Given the description of an element on the screen output the (x, y) to click on. 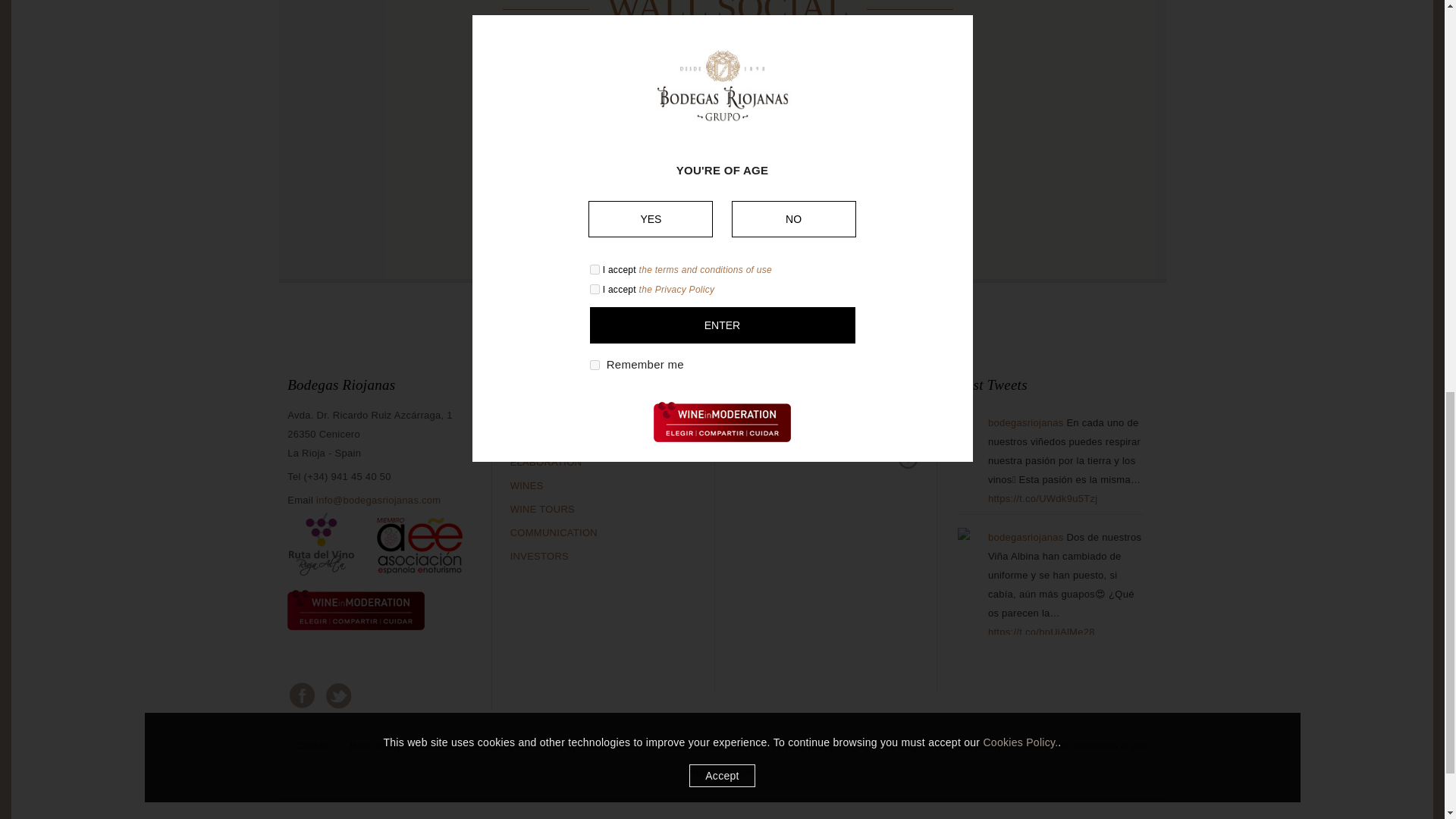
WINE TOURS (543, 509)
WINERIES (535, 438)
See Wall Social (723, 212)
ELABORATION (546, 461)
COMMUNICATION (553, 532)
HISTORY (532, 414)
WINES (527, 485)
Facebook (300, 693)
Rutas del Vino Rioja Alta (321, 575)
Wine in moderation (355, 628)
